Given the description of an element on the screen output the (x, y) to click on. 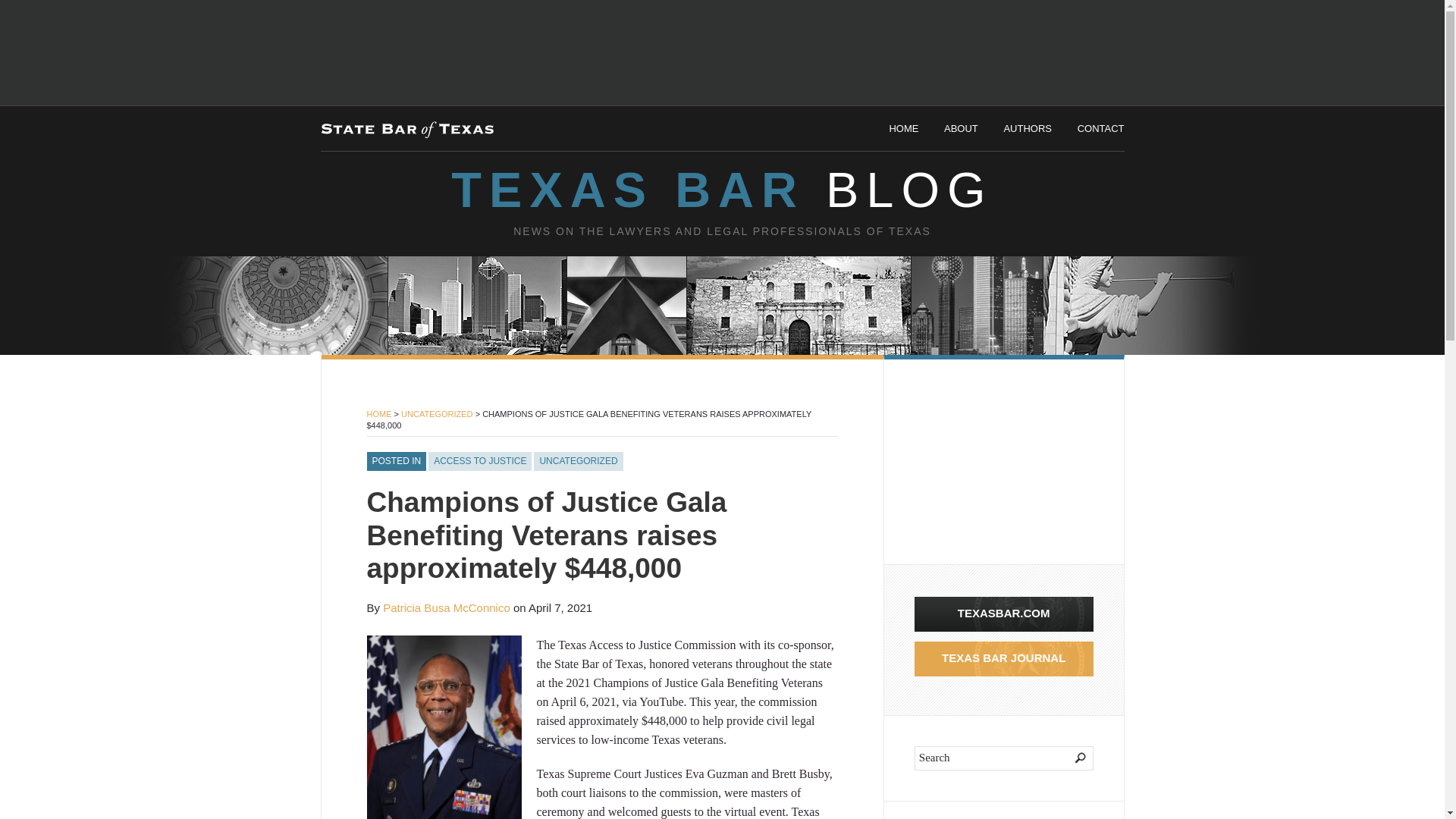
HOME (903, 128)
Patricia Busa McConnico (446, 607)
TEXAS BAR JOURNAL (1003, 658)
UNCATEGORIZED (578, 461)
ABOUT (960, 128)
Go (1070, 757)
ACCESS TO JUSTICE (479, 461)
HOME (378, 413)
State Bar of Texas (406, 126)
TEXAS BAR BLOG (721, 189)
